Given the description of an element on the screen output the (x, y) to click on. 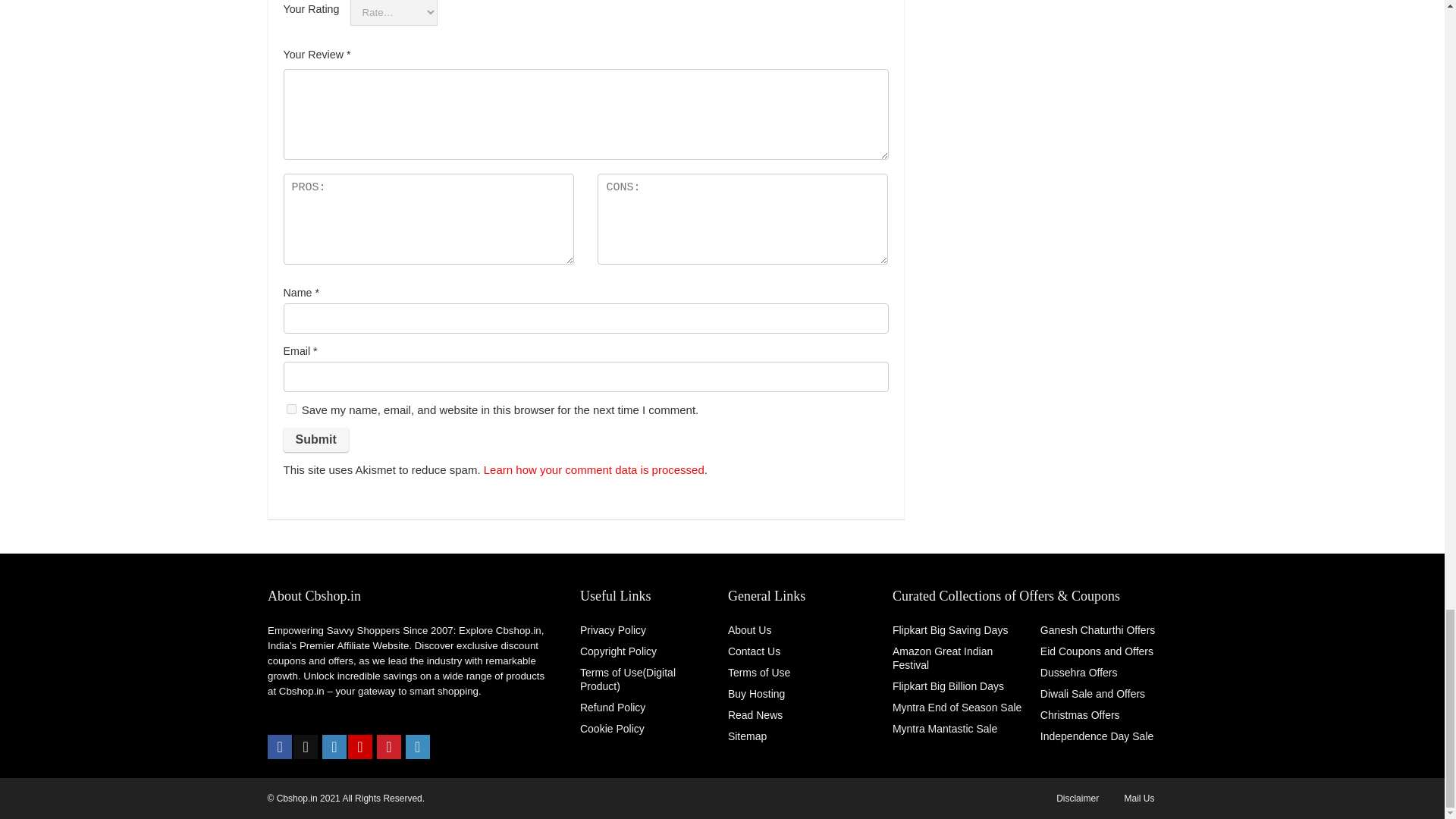
Linkedin (417, 746)
yes (291, 409)
Pinterest (389, 746)
Facebook (279, 746)
Submit (316, 439)
Youtube (359, 746)
twitter (305, 746)
Instagramm (333, 746)
